Given the description of an element on the screen output the (x, y) to click on. 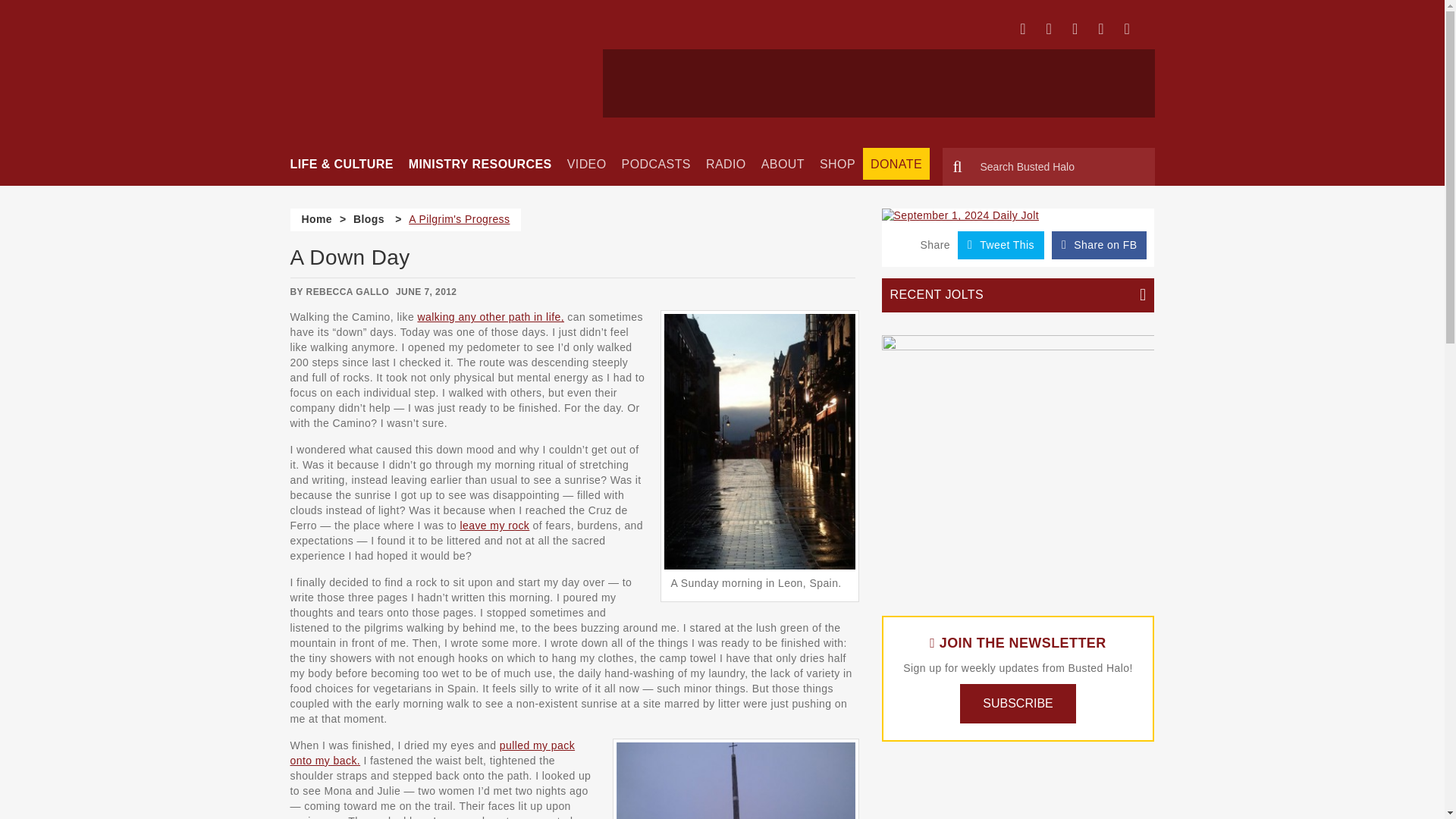
Blogs (368, 218)
VIDEO (586, 163)
ABOUT (783, 163)
Search for: (1048, 166)
PODCASTS (656, 163)
RADIO (726, 163)
cruz-de-fero-large-image (734, 780)
DONATE (892, 163)
A Pilgrim's Progress (459, 218)
SHOP (837, 163)
